Given the description of an element on the screen output the (x, y) to click on. 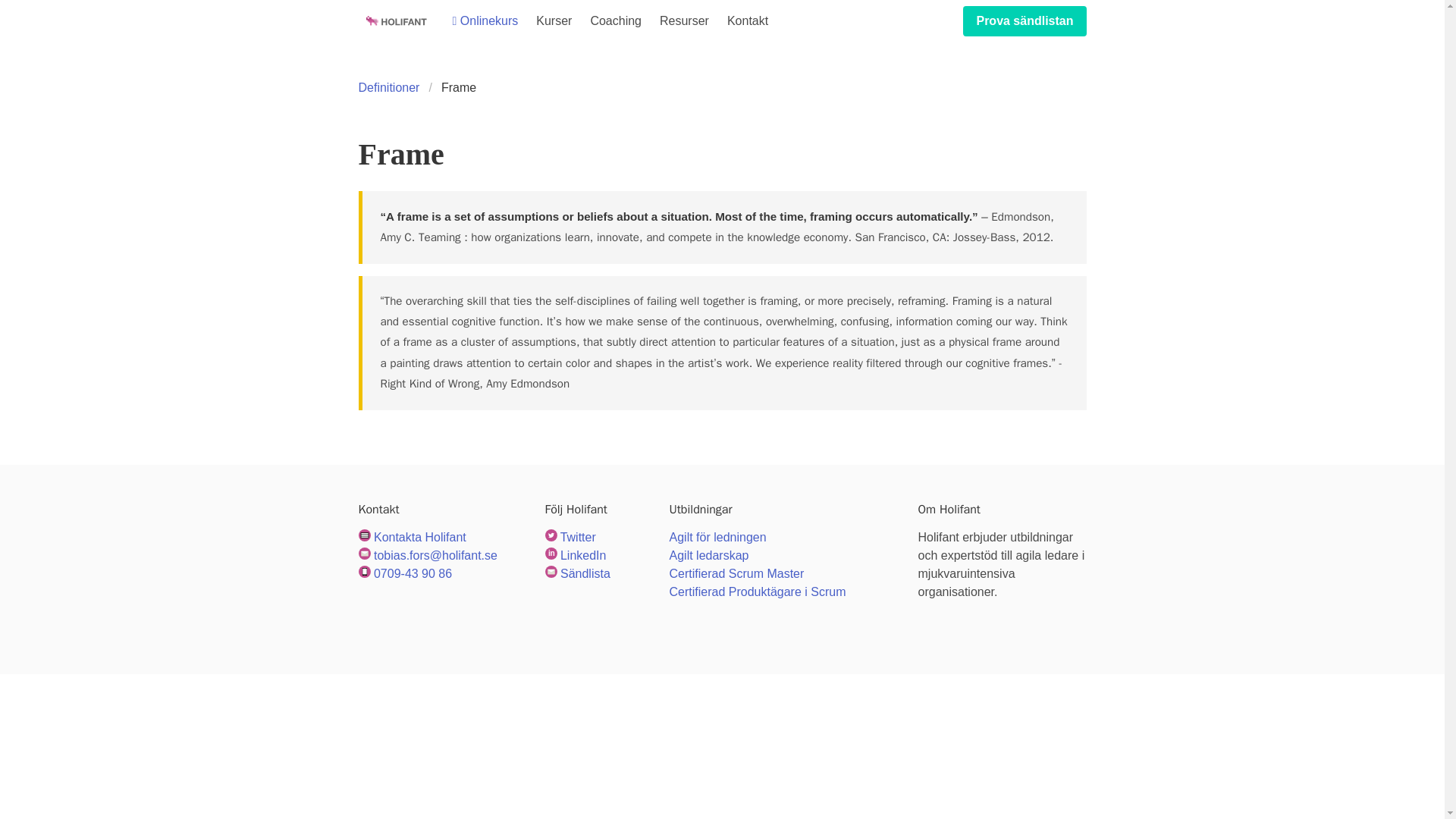
in (550, 553)
Resurser (683, 21)
Kontakt (747, 21)
Agilt ledarskap (709, 554)
LinkedIn (583, 554)
Frame (458, 87)
0709-43 90 86 (412, 573)
Twitter (577, 536)
Certifierad Scrum Master (737, 573)
Coaching (615, 21)
